Given the description of an element on the screen output the (x, y) to click on. 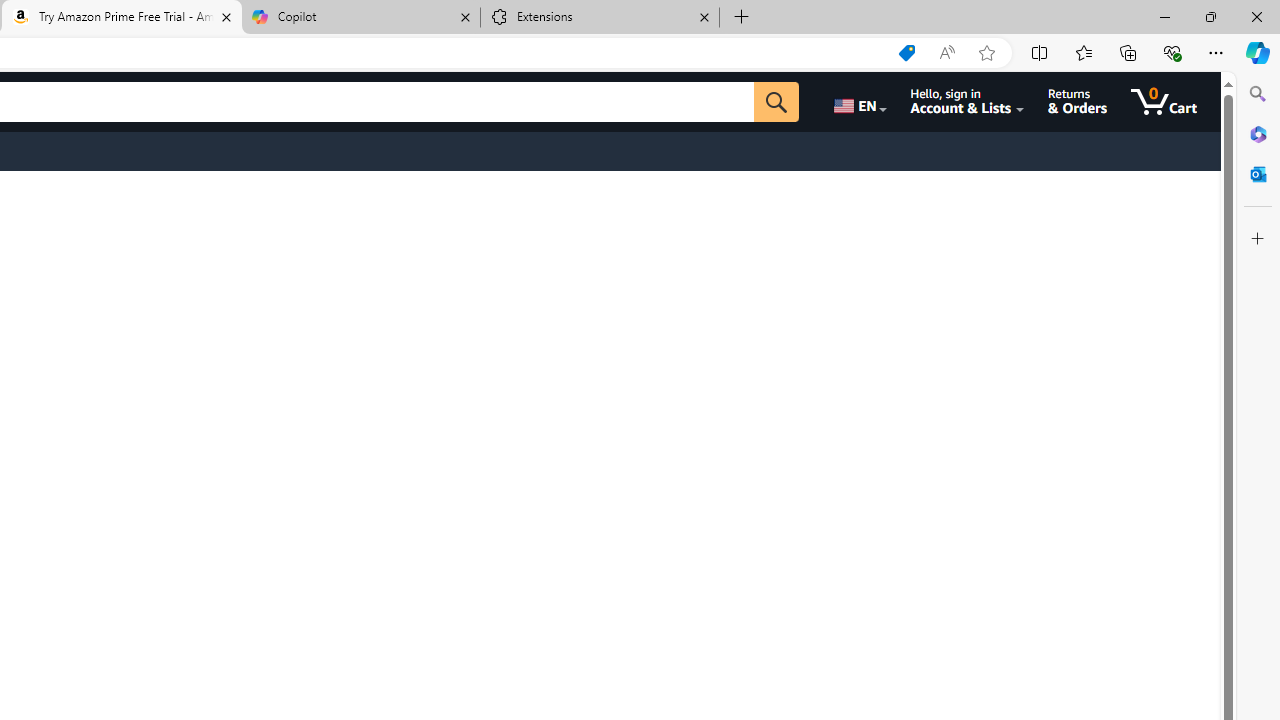
Add this page to favorites (Ctrl+D) (986, 53)
Copilot (Ctrl+Shift+.) (1258, 52)
Choose a language for shopping. (858, 101)
Hello, sign in Account & Lists (967, 101)
Extensions (600, 17)
Favorites (1083, 52)
New Tab (742, 17)
Microsoft 365 (1258, 133)
Settings and more (Alt+F) (1215, 52)
Read aloud this page (Ctrl+Shift+U) (946, 53)
Close tab (704, 16)
0 items in cart (1163, 101)
Restore (1210, 16)
Copilot (360, 17)
Close Outlook pane (1258, 174)
